Given the description of an element on the screen output the (x, y) to click on. 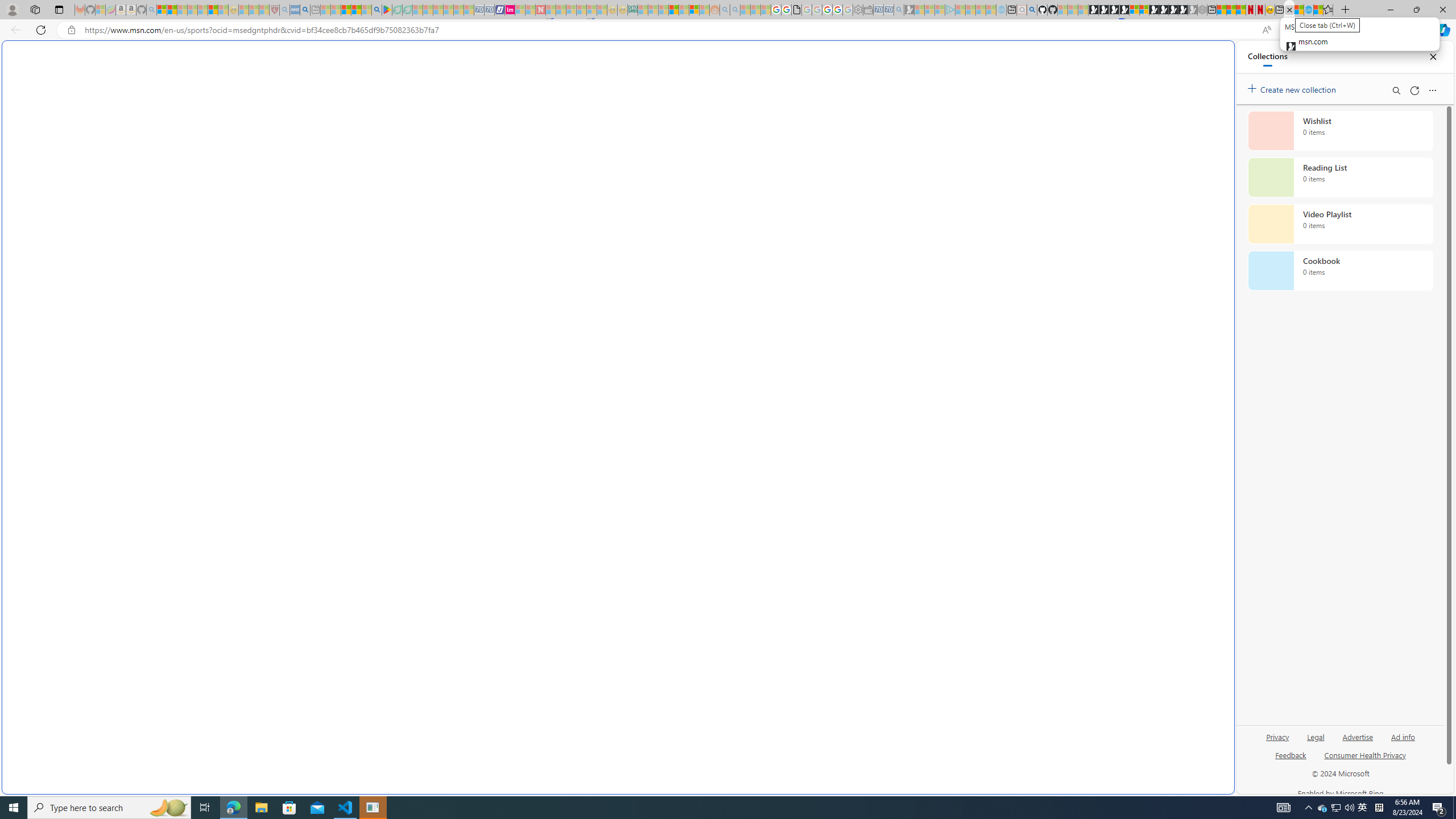
utah sues federal government - Search (922, 389)
Cookbook collection, 0 items (1339, 270)
